Given the description of an element on the screen output the (x, y) to click on. 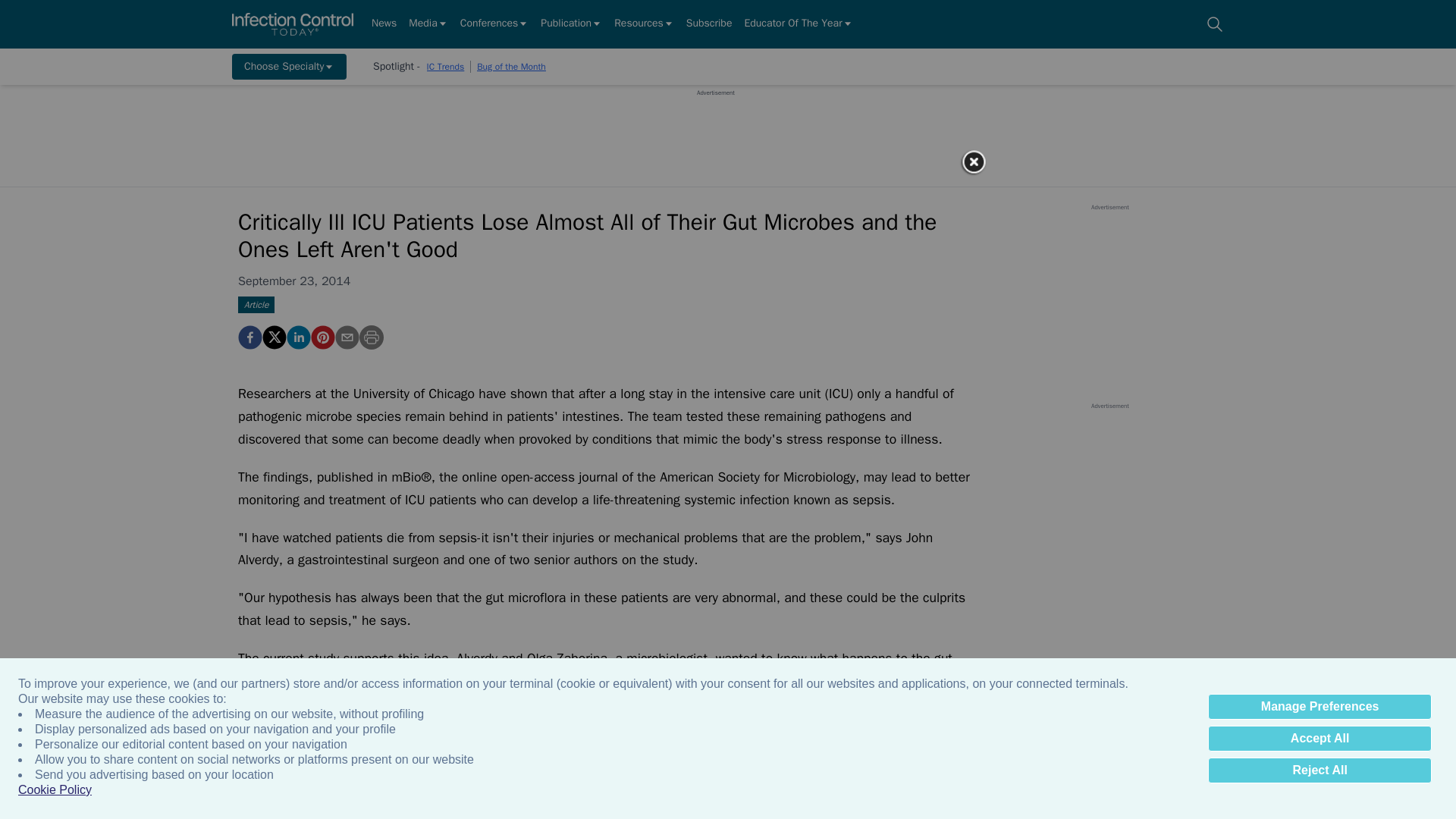
Publication (571, 23)
News (383, 23)
Reject All (1319, 769)
Resources (644, 23)
Cookie Policy (54, 789)
Media (427, 23)
Educator Of The Year (797, 23)
Conferences (494, 23)
3rd party ad content (715, 131)
Subscribe (708, 23)
Accept All (1319, 738)
Manage Preferences (1319, 706)
